Given the description of an element on the screen output the (x, y) to click on. 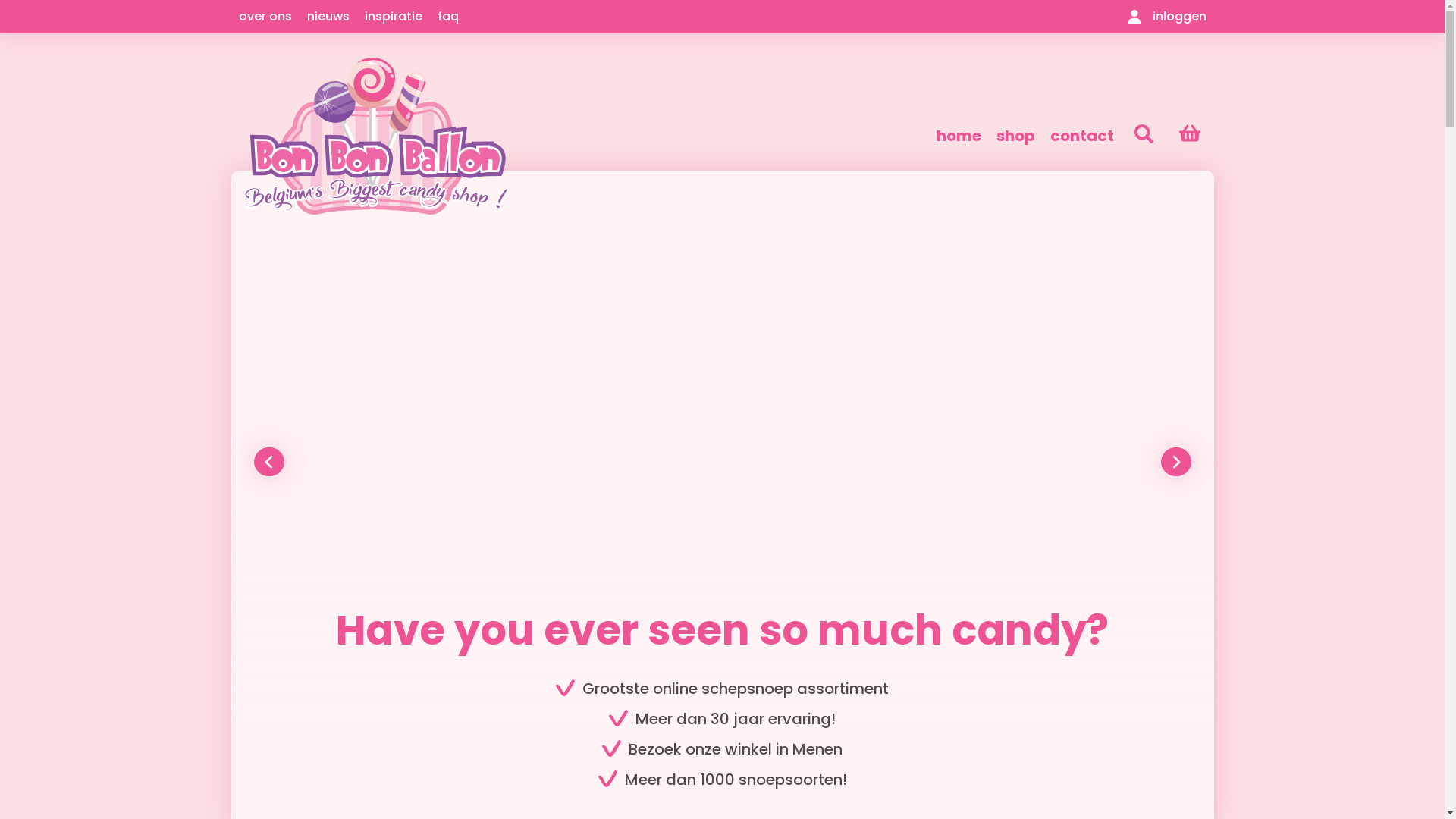
inloggen Element type: text (1167, 16)
webdesign tom broucke Element type: text (1146, 792)
over ons Element type: text (264, 16)
nieuws Element type: text (327, 16)
home Element type: text (958, 135)
inspiratie Element type: text (392, 16)
contact Element type: text (1081, 135)
shop Element type: text (1015, 135)
faq Element type: text (447, 16)
